Given the description of an element on the screen output the (x, y) to click on. 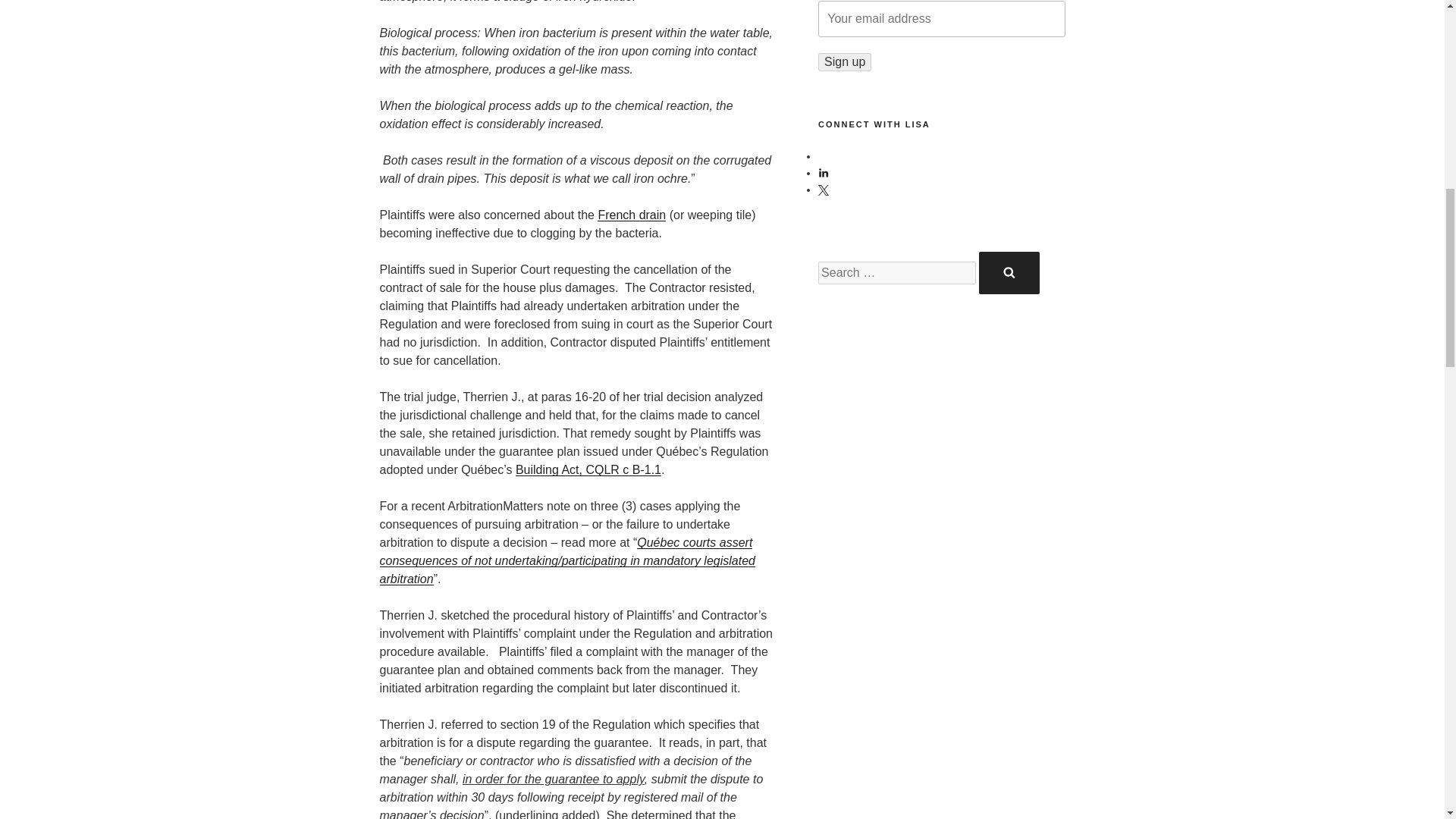
Sign up (844, 62)
Building Act, CQLR c B-1.1 (588, 469)
Sign up (844, 62)
French drain (630, 214)
Search (1008, 272)
